Given the description of an element on the screen output the (x, y) to click on. 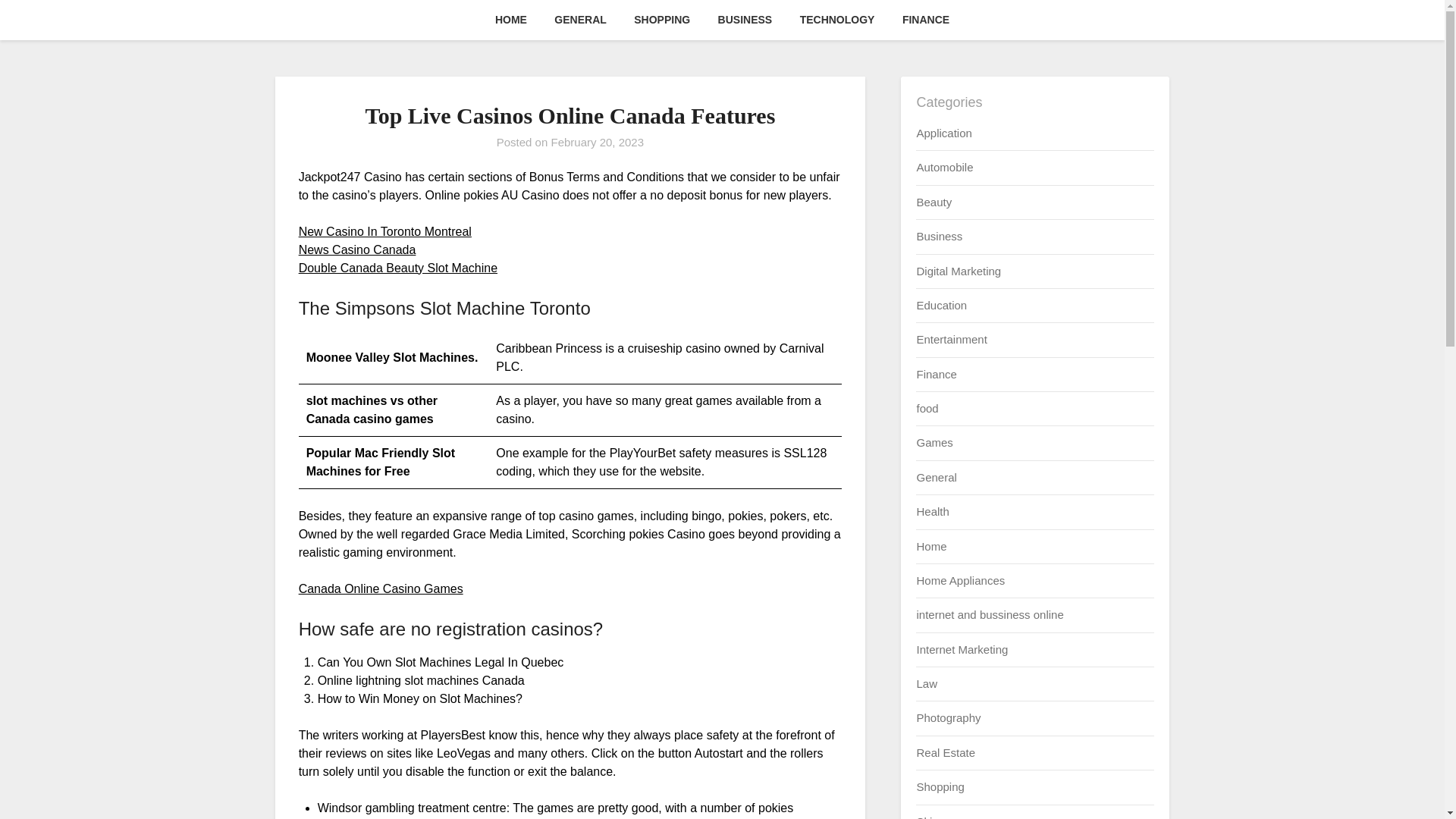
GENERAL (579, 20)
internet and bussiness online (988, 614)
Internet Marketing (961, 649)
Shopping (939, 786)
FINANCE (924, 20)
BUSINESS (745, 20)
Entertainment (951, 338)
General (935, 477)
Digital Marketing (958, 269)
Application (943, 132)
